Given the description of an element on the screen output the (x, y) to click on. 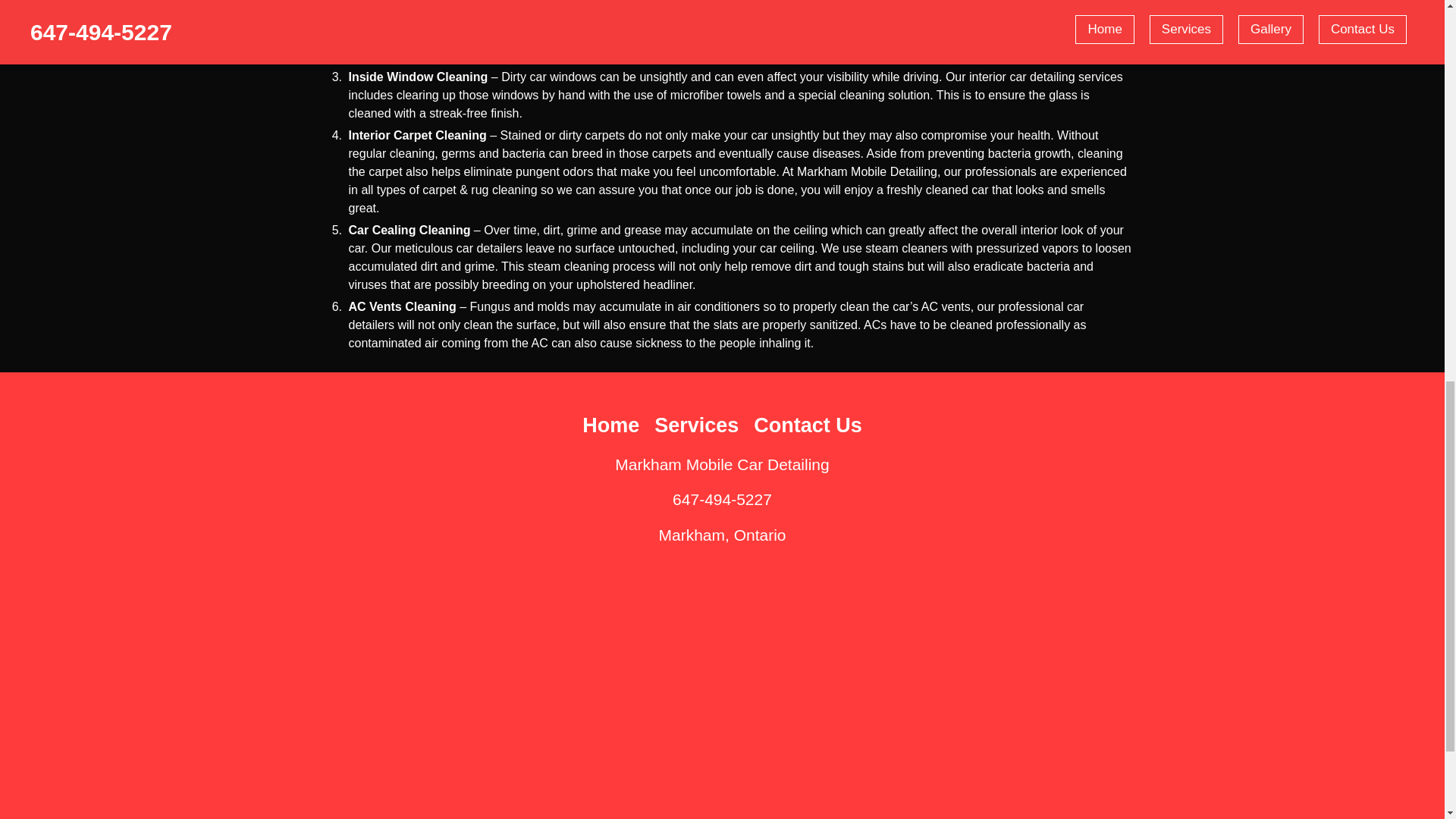
Contact Us (807, 425)
Services (695, 425)
Home (610, 425)
647-494-5227 (721, 499)
